Given the description of an element on the screen output the (x, y) to click on. 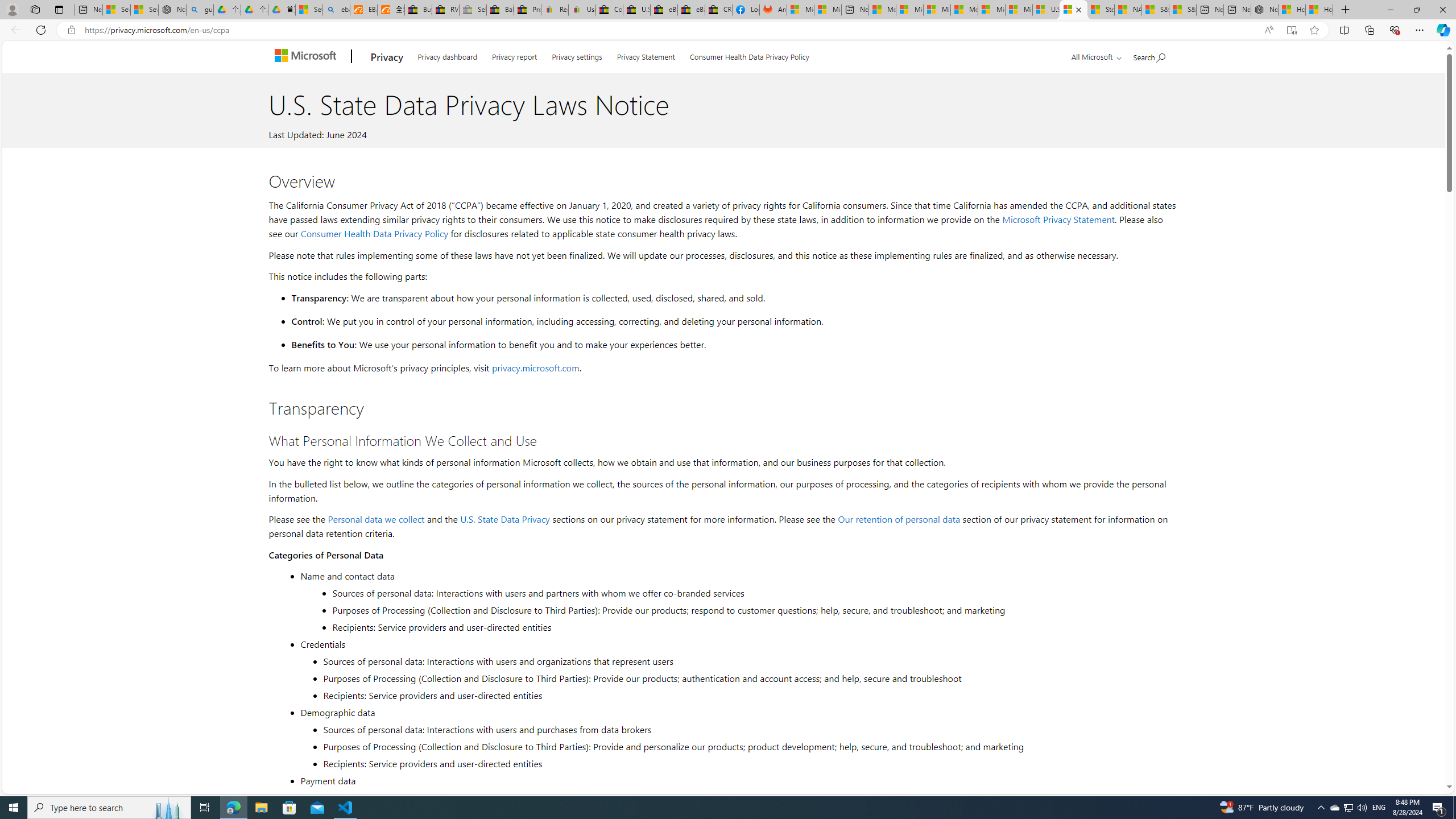
Close tab (1078, 9)
Refresh (40, 29)
Privacy settings (577, 54)
Consumer Health Data Privacy Policy (748, 54)
Read aloud this page (Ctrl+Shift+U) (1268, 29)
Tab actions menu (58, 9)
Sell worldwide with eBay - Sleeping (473, 9)
Settings and more (Alt+F) (1419, 29)
How to Use a Monitor With Your Closed Laptop (1319, 9)
Privacy settings (576, 54)
